Given the description of an element on the screen output the (x, y) to click on. 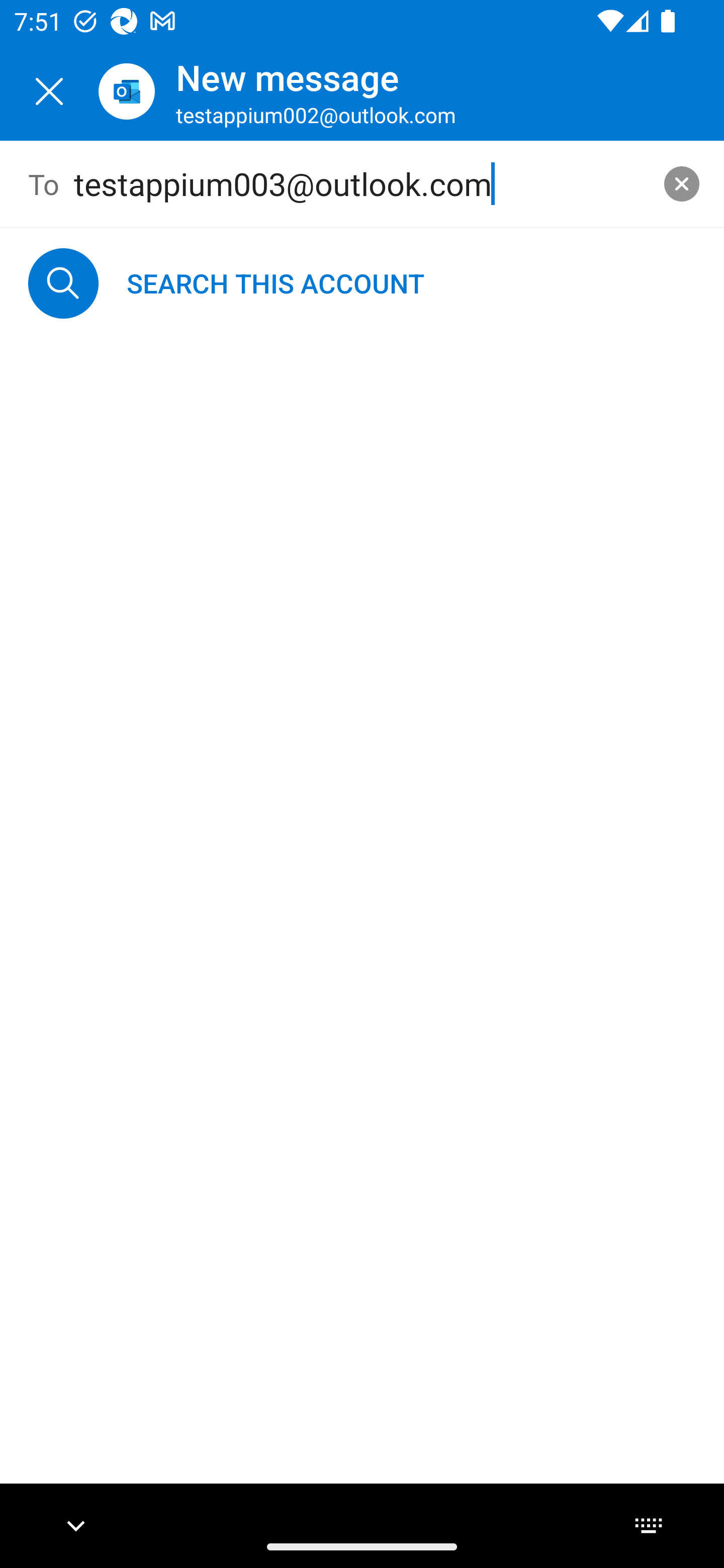
Close (49, 91)
testappium003@outlook.com (362, 184)
clear search (681, 183)
